Given the description of an element on the screen output the (x, y) to click on. 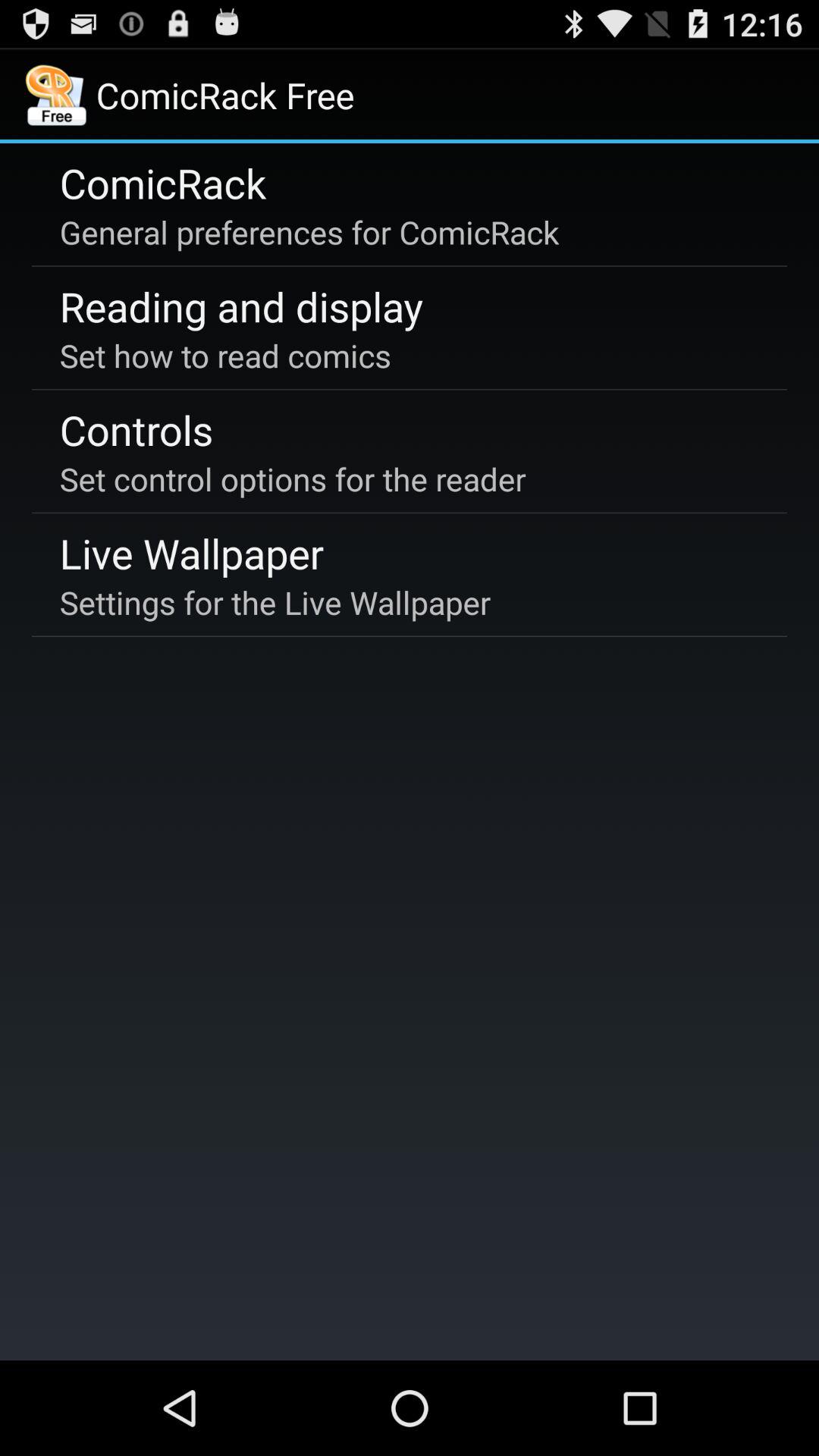
turn off icon above the controls app (225, 355)
